Given the description of an element on the screen output the (x, y) to click on. 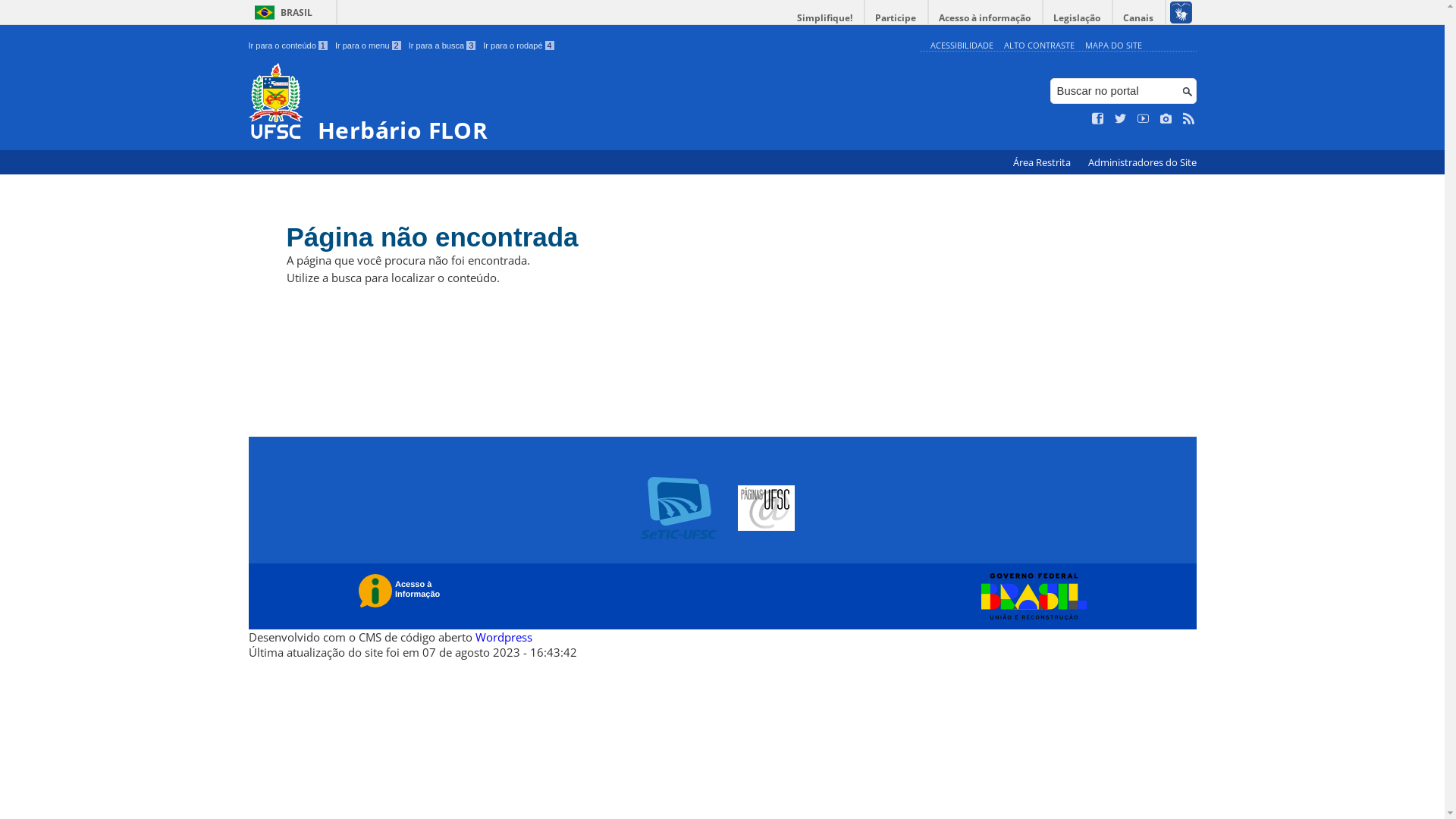
MAPA DO SITE Element type: text (1112, 44)
Wordpress Element type: text (502, 636)
Siga no Twitter Element type: hover (1120, 118)
Ir para a busca 3 Element type: text (442, 45)
ALTO CONTRASTE Element type: text (1039, 44)
ACESSIBILIDADE Element type: text (960, 44)
Ir para o menu 2 Element type: text (368, 45)
Participe Element type: text (895, 18)
Curta no Facebook Element type: hover (1098, 118)
Canais Element type: text (1138, 18)
Administradores do Site Element type: text (1141, 162)
BRASIL Element type: text (280, 12)
Governo Federal Element type: hover (1029, 596)
Simplifique! Element type: text (825, 18)
Veja no Instagram Element type: hover (1166, 118)
